Given the description of an element on the screen output the (x, y) to click on. 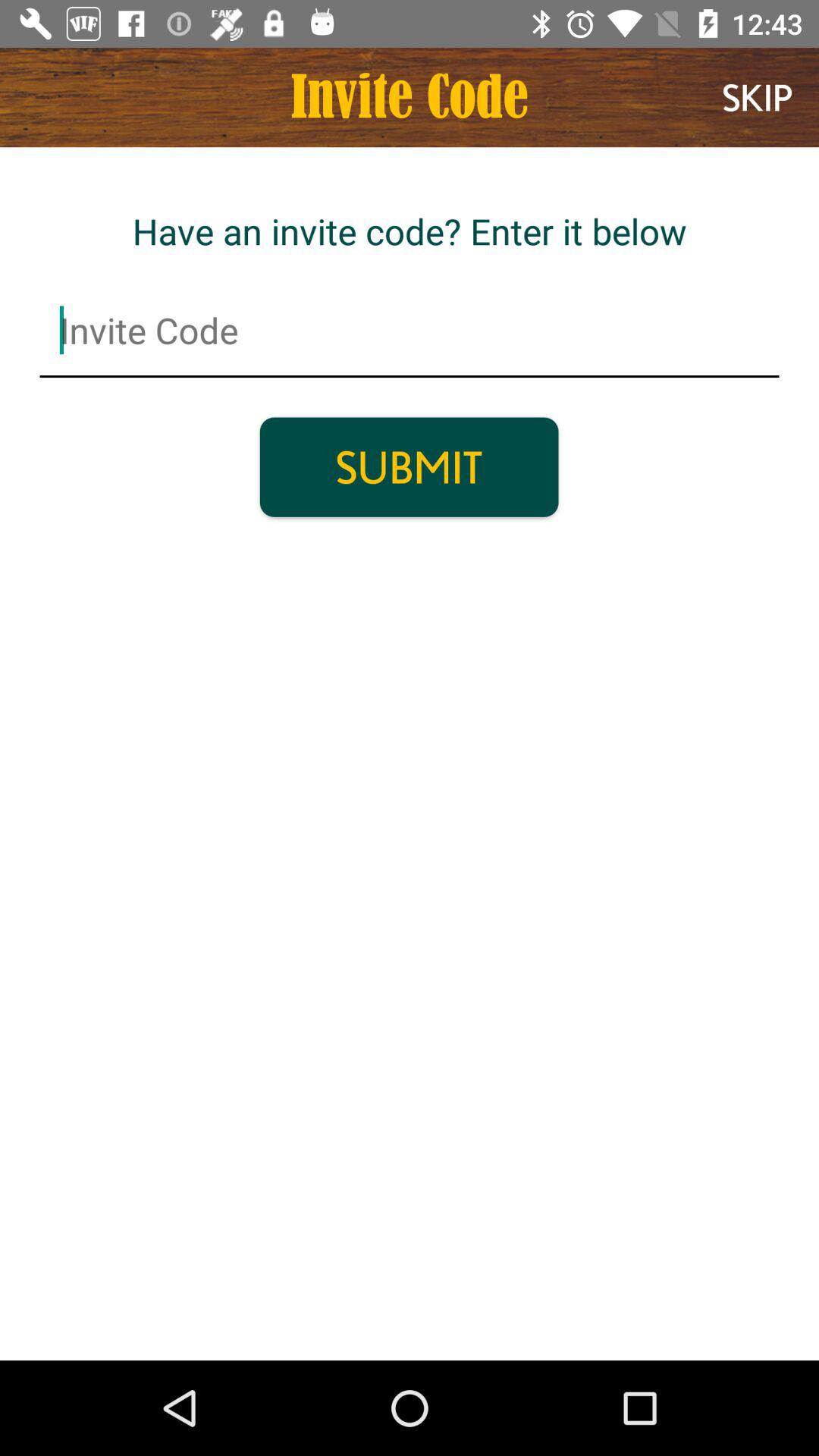
turn off the icon to the right of the invite code icon (757, 97)
